Given the description of an element on the screen output the (x, y) to click on. 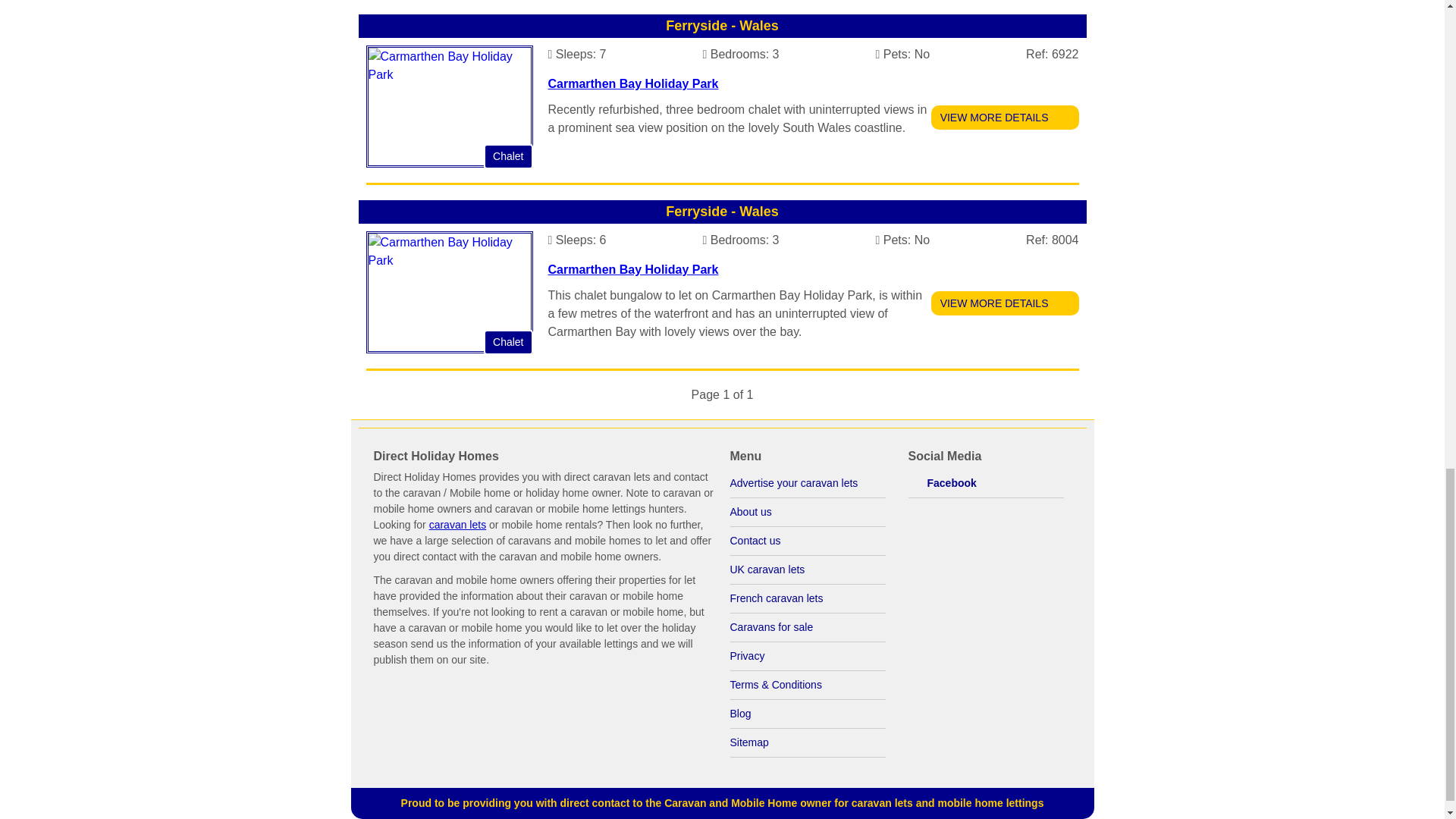
UK caravan lets (807, 570)
Contact us (807, 541)
Carmarthen Bay Holiday Park (632, 269)
VIEW MORE DETAILS (1004, 303)
Advertise your caravan lets (807, 483)
Carmarthen Bay Holiday Park (632, 83)
VIEW MORE DETAILS (1004, 117)
caravan lets (457, 524)
About us (807, 512)
French caravan lets (807, 598)
